Given the description of an element on the screen output the (x, y) to click on. 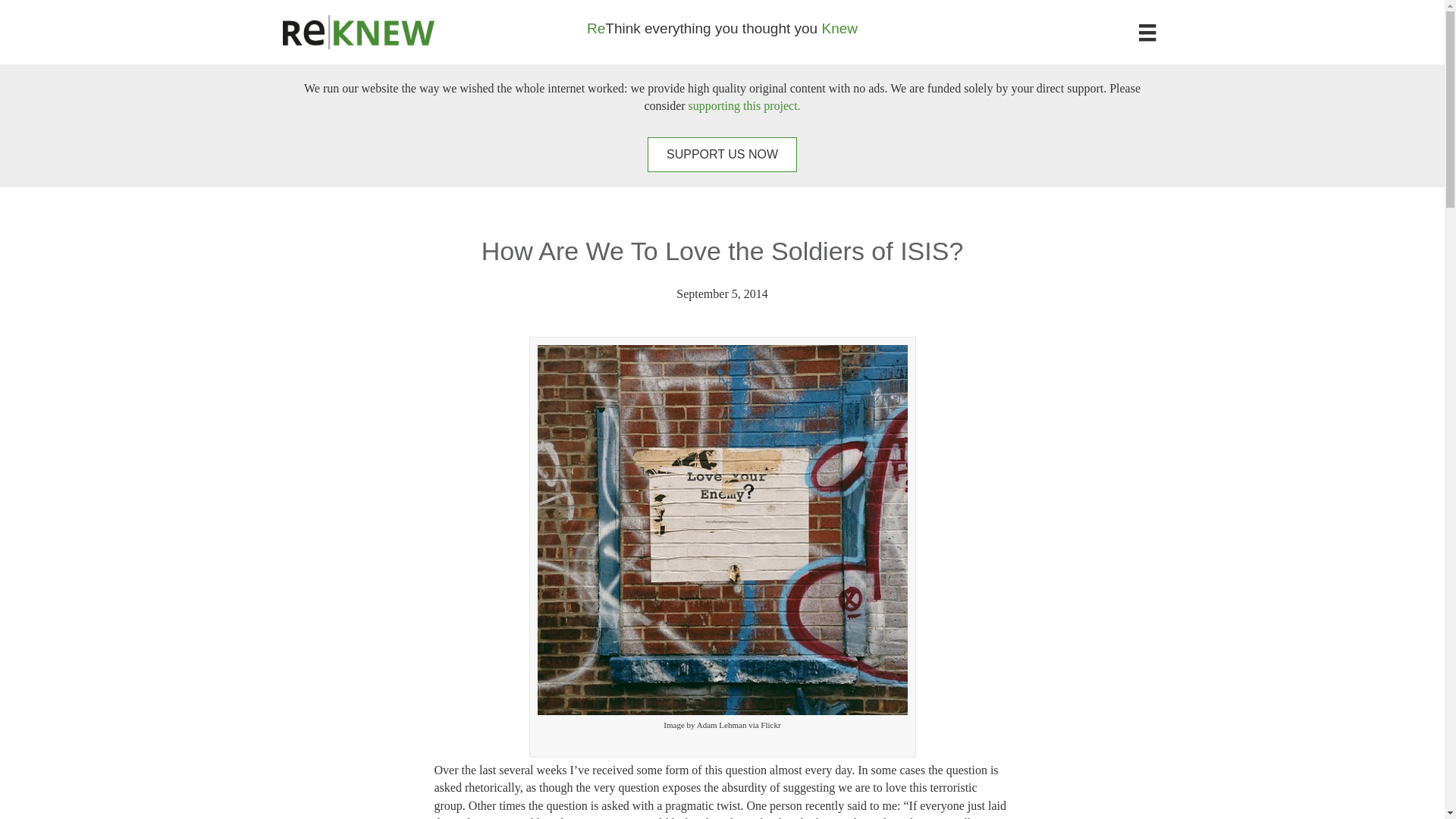
SUPPORT US NOW (721, 154)
uabb-menu-toggle (1147, 32)
reknew-logo-1000px (357, 32)
supporting this project. (744, 105)
